Given the description of an element on the screen output the (x, y) to click on. 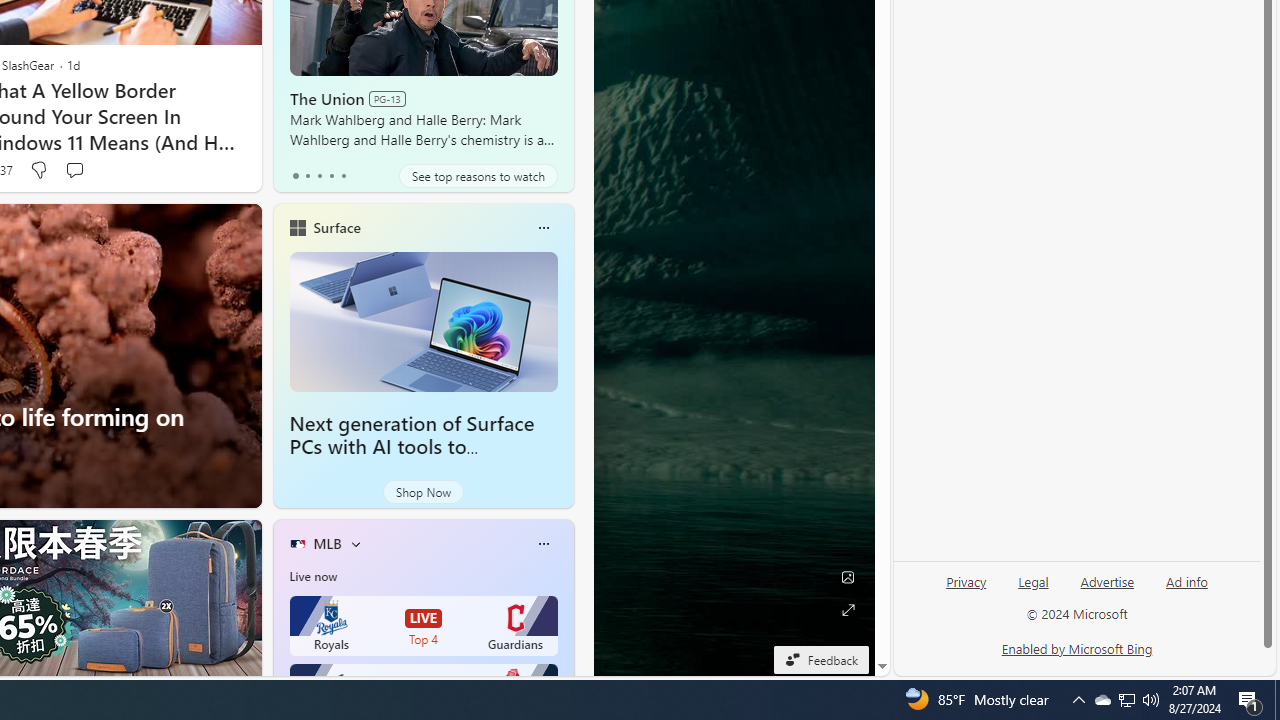
tab-2 (319, 175)
Legal (1033, 589)
Ad info (1187, 582)
Edit Background (847, 577)
tab-3 (331, 175)
Class: icon-img (543, 543)
Expand background (847, 610)
tab-0 (295, 175)
